Given the description of an element on the screen output the (x, y) to click on. 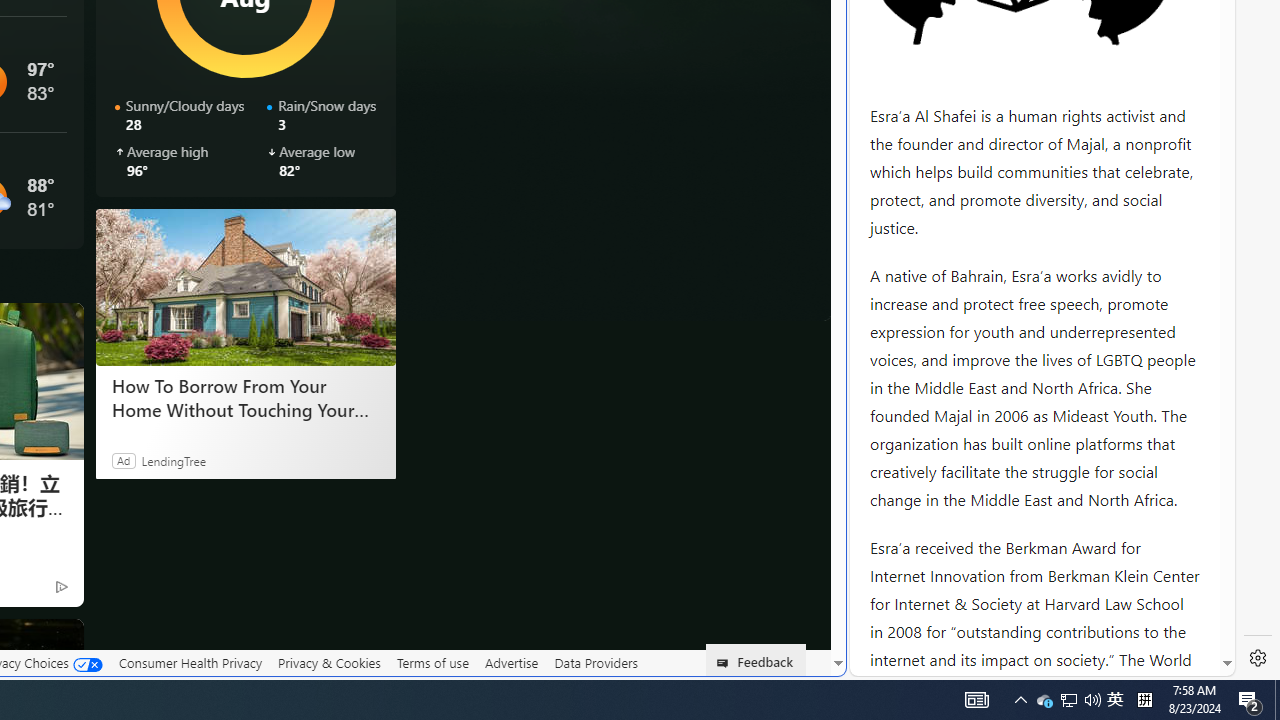
Privacy & Cookies (329, 663)
Consumer Health Privacy (189, 662)
LendingTree (173, 460)
Actions for this site (1129, 306)
Terms of use (431, 662)
Consumer Health Privacy (189, 663)
Data Providers (595, 663)
Terms of use (431, 663)
Privacy & Cookies (329, 662)
